Given the description of an element on the screen output the (x, y) to click on. 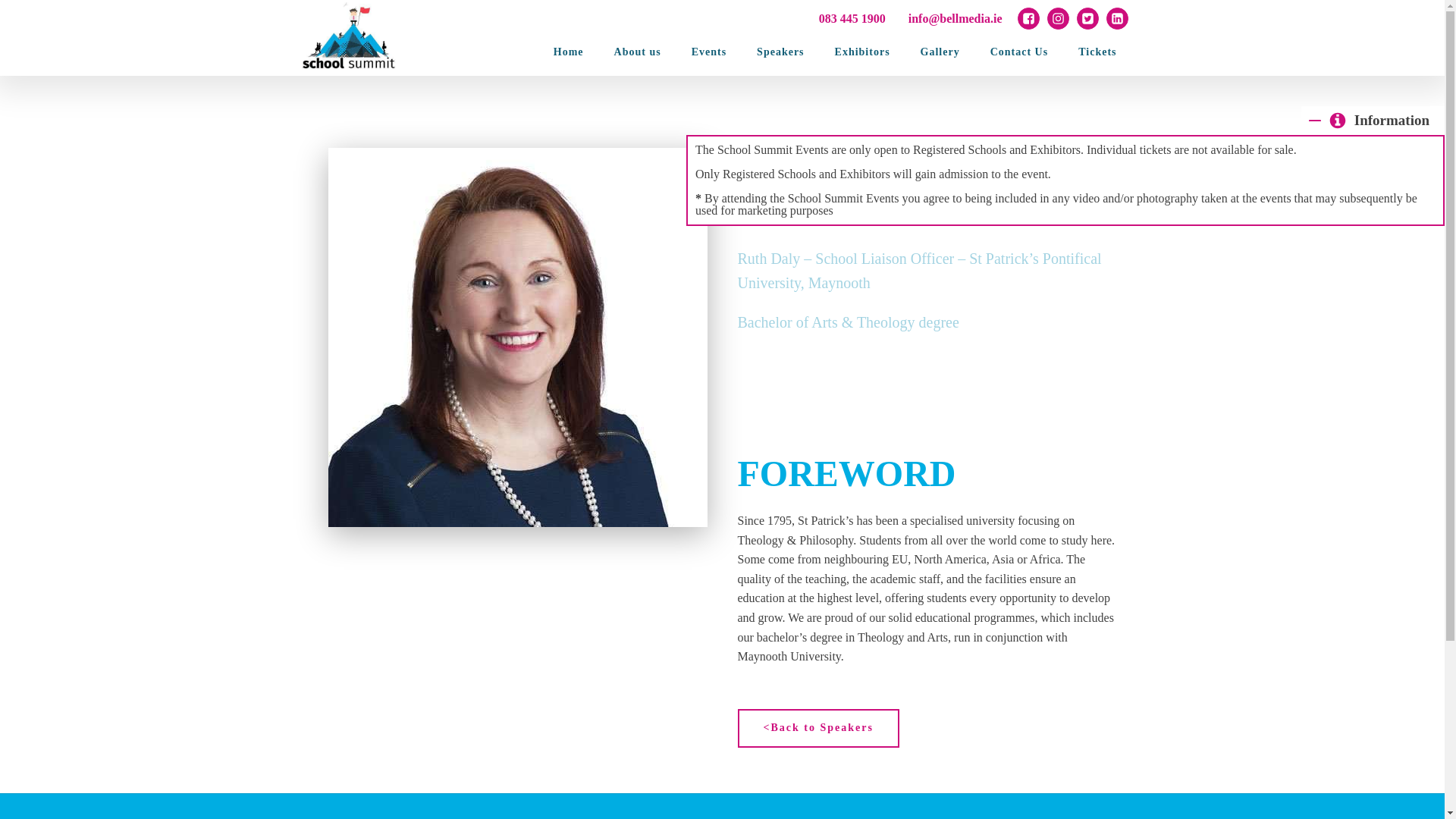
Events (709, 52)
Tickets (1096, 52)
Privacy Policy (385, 816)
Contact Us (1019, 52)
About us (637, 52)
Speakers (779, 52)
Gallery (940, 52)
083 445 1900 (851, 18)
Exhibitors (862, 52)
Home (568, 52)
